Given the description of an element on the screen output the (x, y) to click on. 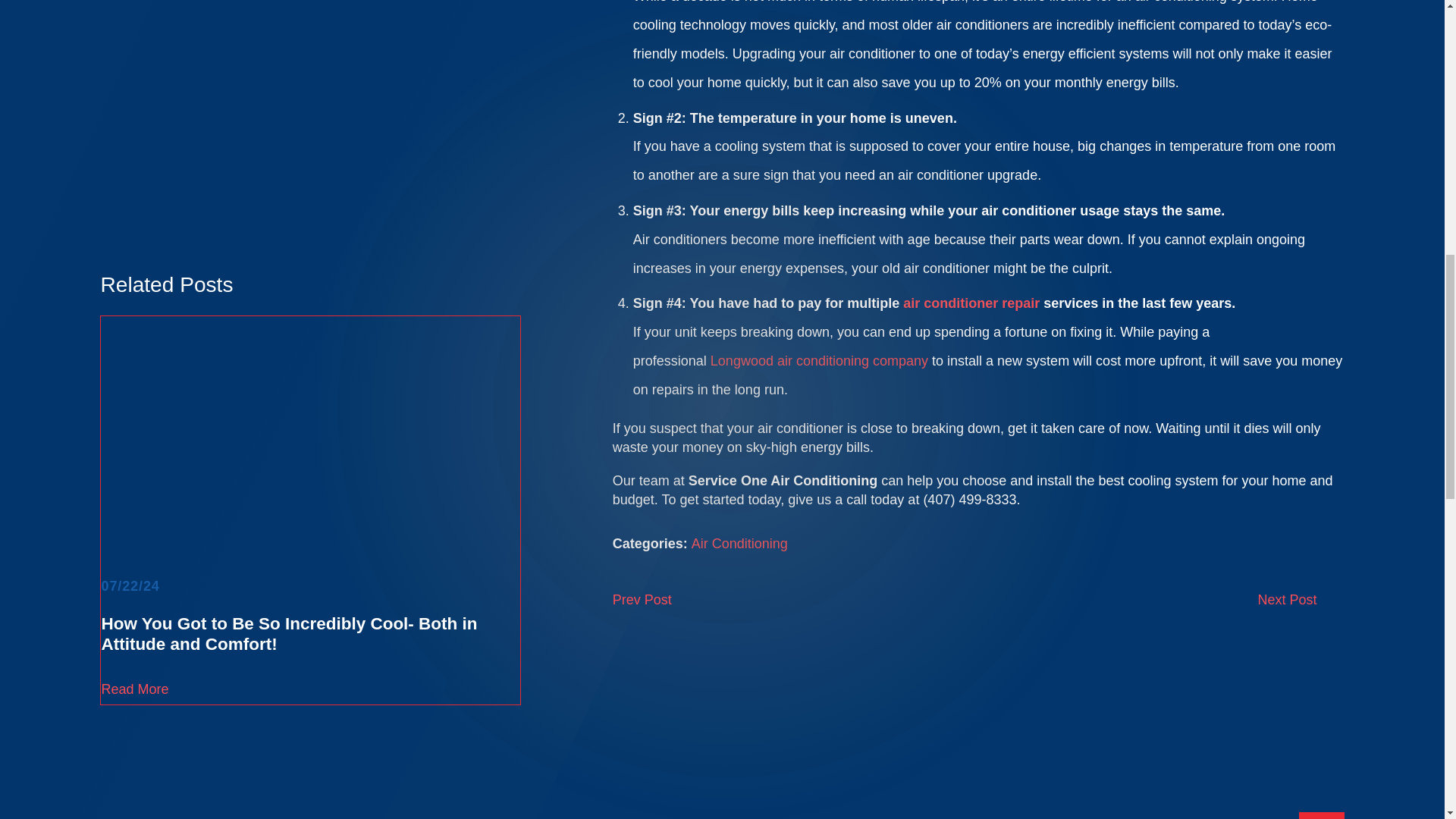
Air Conditioner Repair (970, 303)
Longwood Air Conditioning Company (819, 360)
